Given the description of an element on the screen output the (x, y) to click on. 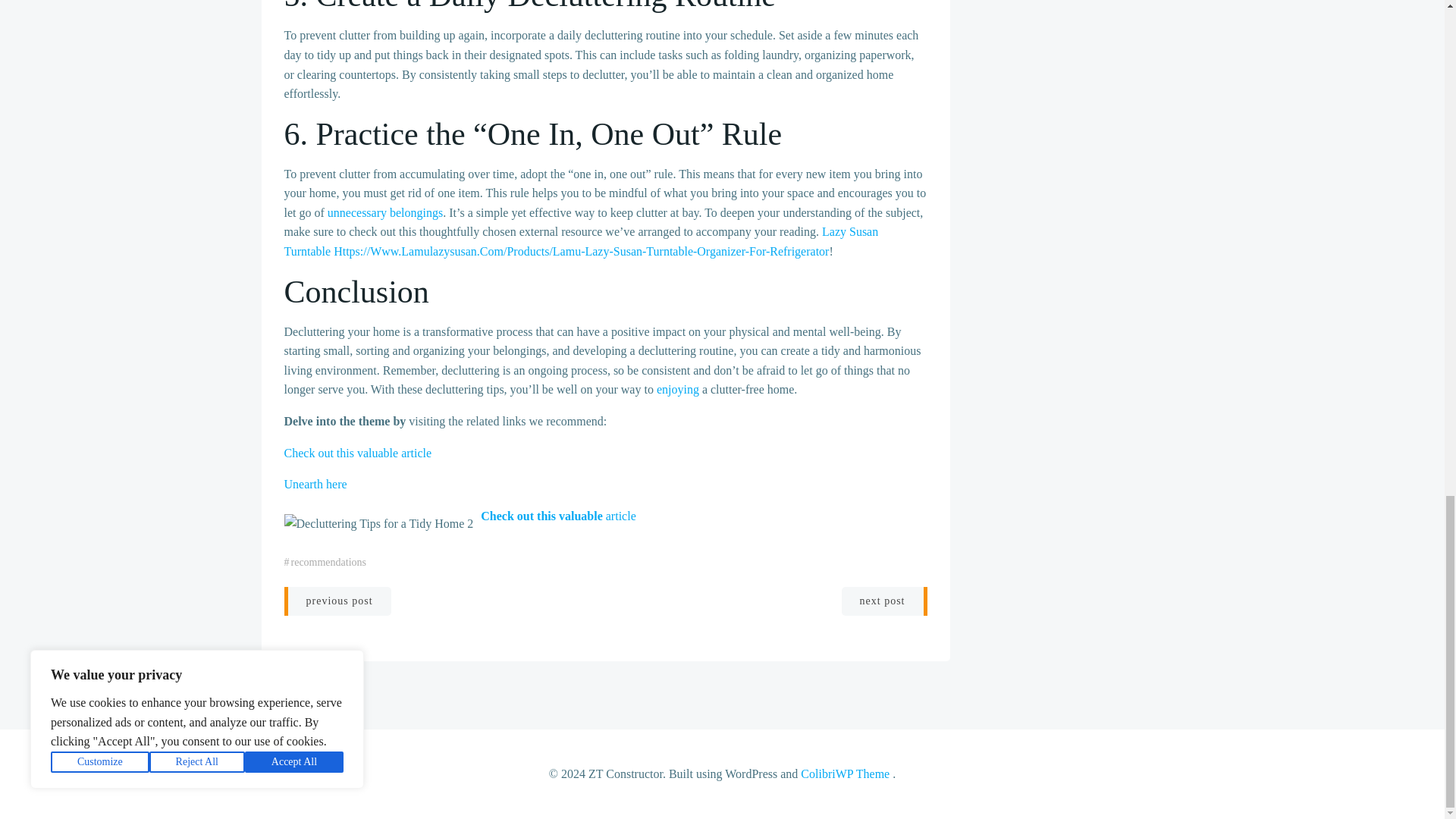
unnecessary belongings (384, 212)
next post (884, 601)
previous post (336, 601)
Check out this valuable article (557, 515)
Tag: Recommendations (328, 562)
Unearth here (314, 483)
recommendations (328, 562)
enjoying (677, 389)
Check out this valuable article (356, 452)
